Given the description of an element on the screen output the (x, y) to click on. 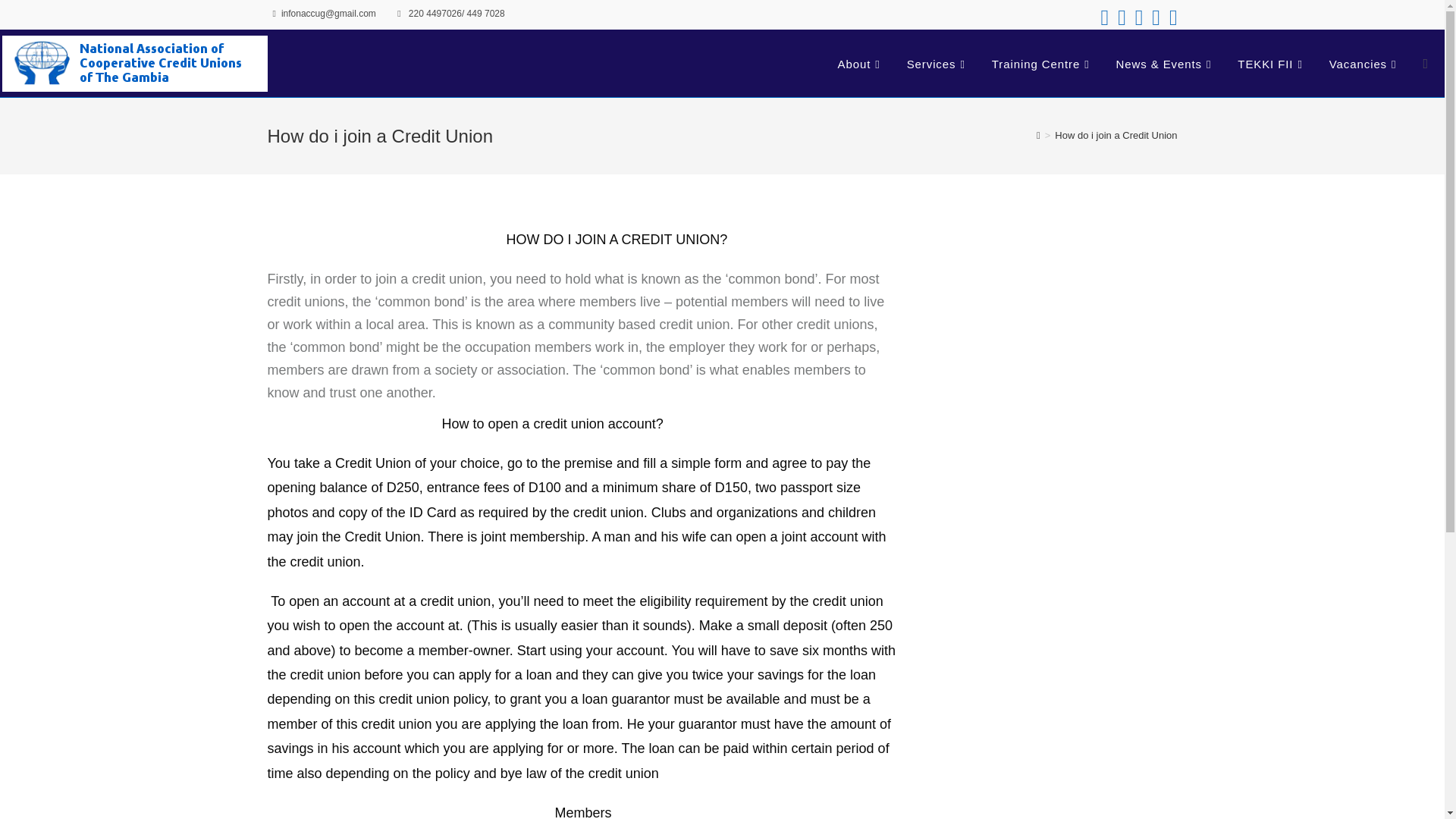
Vacancies (1364, 64)
Training Centre (1042, 64)
TEKKI FII (1271, 64)
Services (937, 64)
About (861, 64)
